Given the description of an element on the screen output the (x, y) to click on. 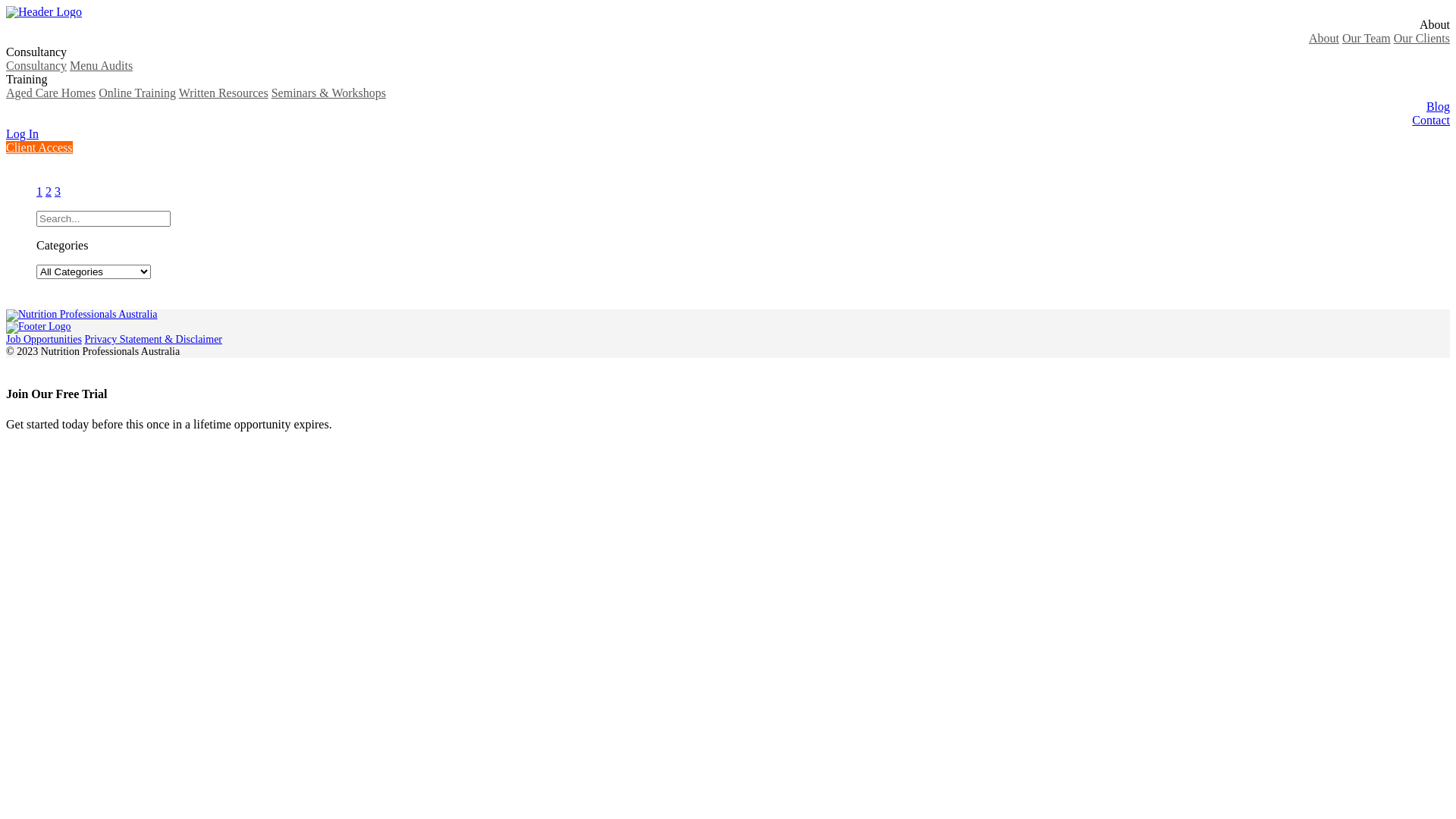
Our Team Element type: text (1366, 37)
Our Clients Element type: text (1421, 37)
Privacy Statement & Disclaimer Element type: text (153, 339)
Job Opportunities Element type: text (43, 339)
Consultancy Element type: text (36, 65)
Client Access Element type: text (39, 147)
Seminars & Workshops Element type: text (328, 92)
Blog Element type: text (1437, 106)
Consultancy Element type: text (36, 51)
1 Element type: text (39, 191)
Online Training Element type: text (136, 92)
Menu Audits Element type: text (100, 65)
Training Element type: text (26, 78)
Contact Element type: text (1430, 119)
About Element type: text (1323, 37)
3 Element type: text (57, 191)
Aged Care Homes Element type: text (50, 92)
Log In Element type: text (22, 133)
2 Element type: text (48, 191)
Written Resources Element type: text (223, 92)
About Element type: text (1434, 24)
